Given the description of an element on the screen output the (x, y) to click on. 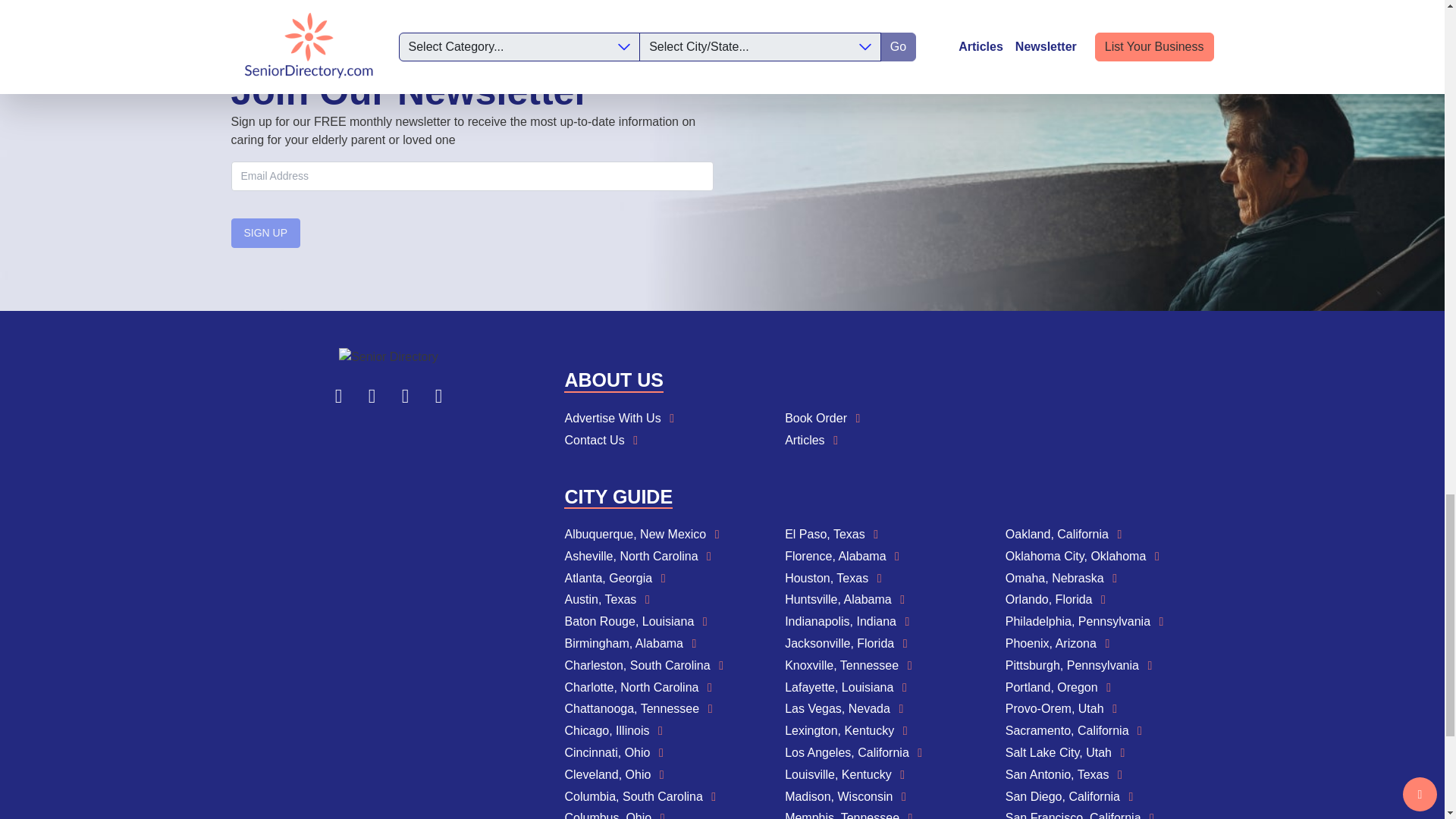
Atlanta, Georgia (668, 578)
Cleveland, Ohio (668, 775)
Austin, Texas (668, 599)
Asheville, North Carolina (668, 557)
Chattanooga, Tennessee (668, 709)
Book Order (888, 418)
Charlotte, North Carolina (668, 688)
Charleston, South Carolina (668, 666)
Albuquerque, New Mexico (668, 535)
SIGN UP (264, 233)
